Given the description of an element on the screen output the (x, y) to click on. 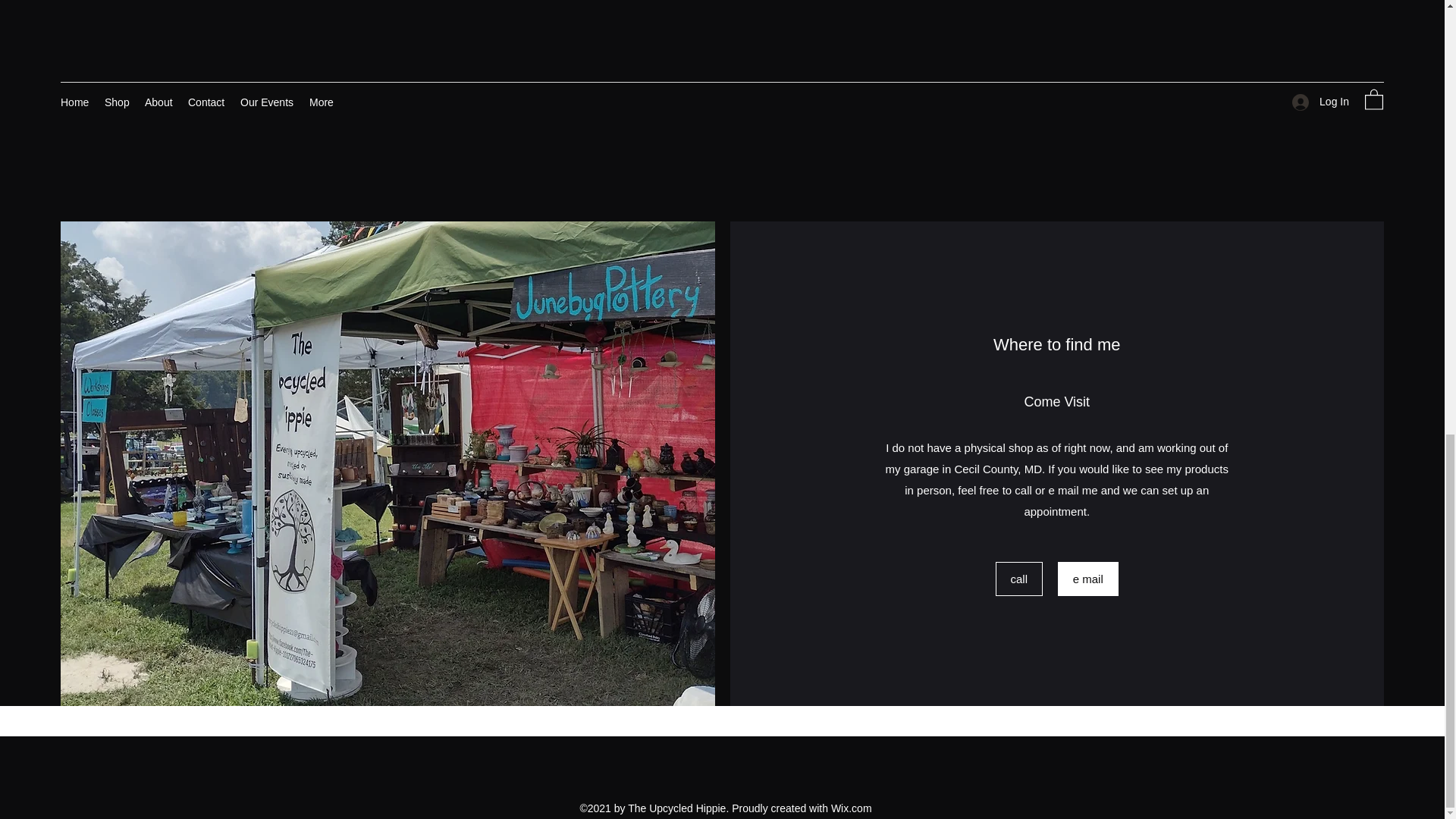
call (1018, 578)
e mail (1088, 578)
